Given the description of an element on the screen output the (x, y) to click on. 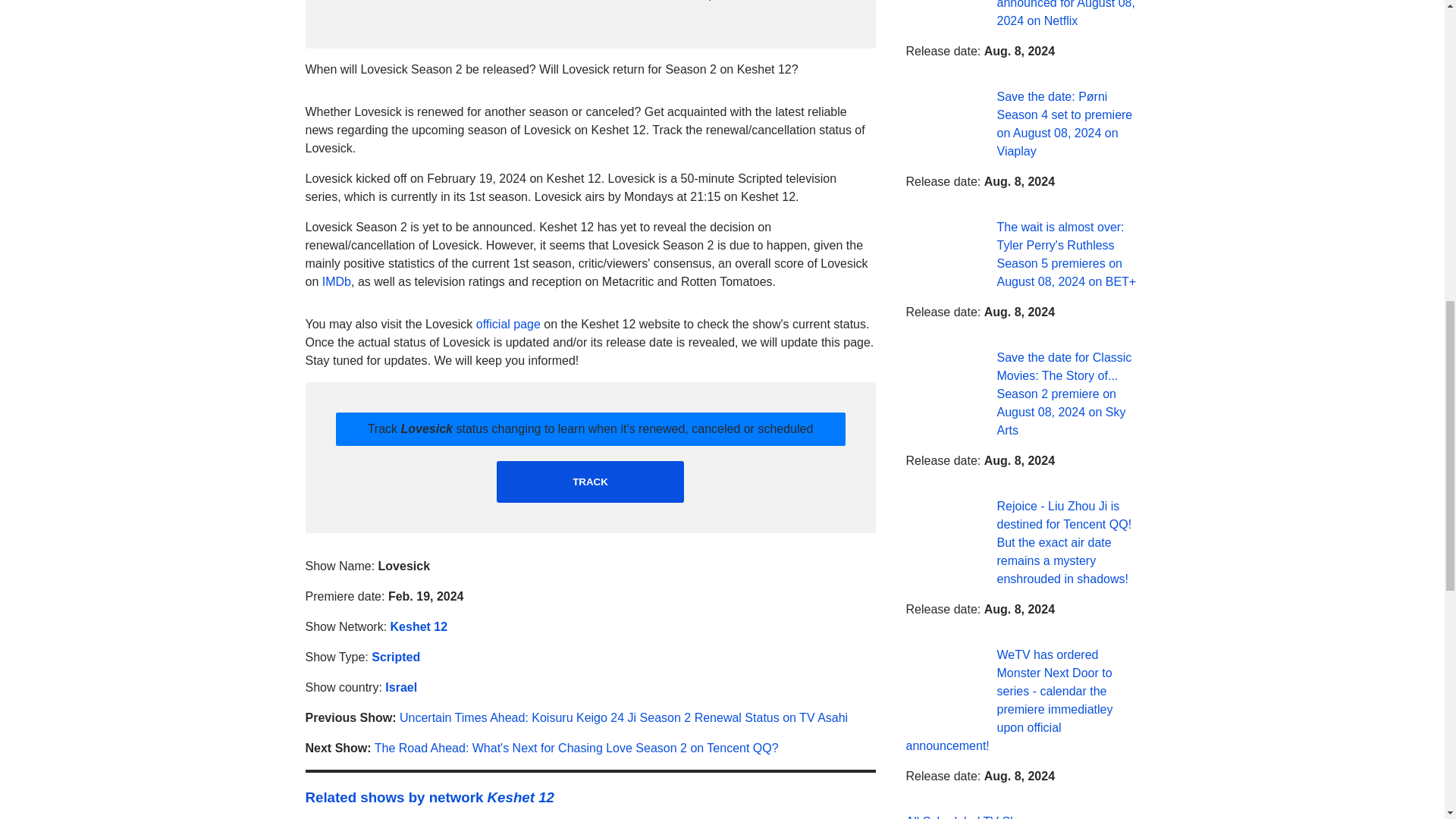
official page (508, 323)
TRACK (590, 481)
IMDb (335, 281)
Israel (400, 686)
Keshet 12 (419, 626)
